Given the description of an element on the screen output the (x, y) to click on. 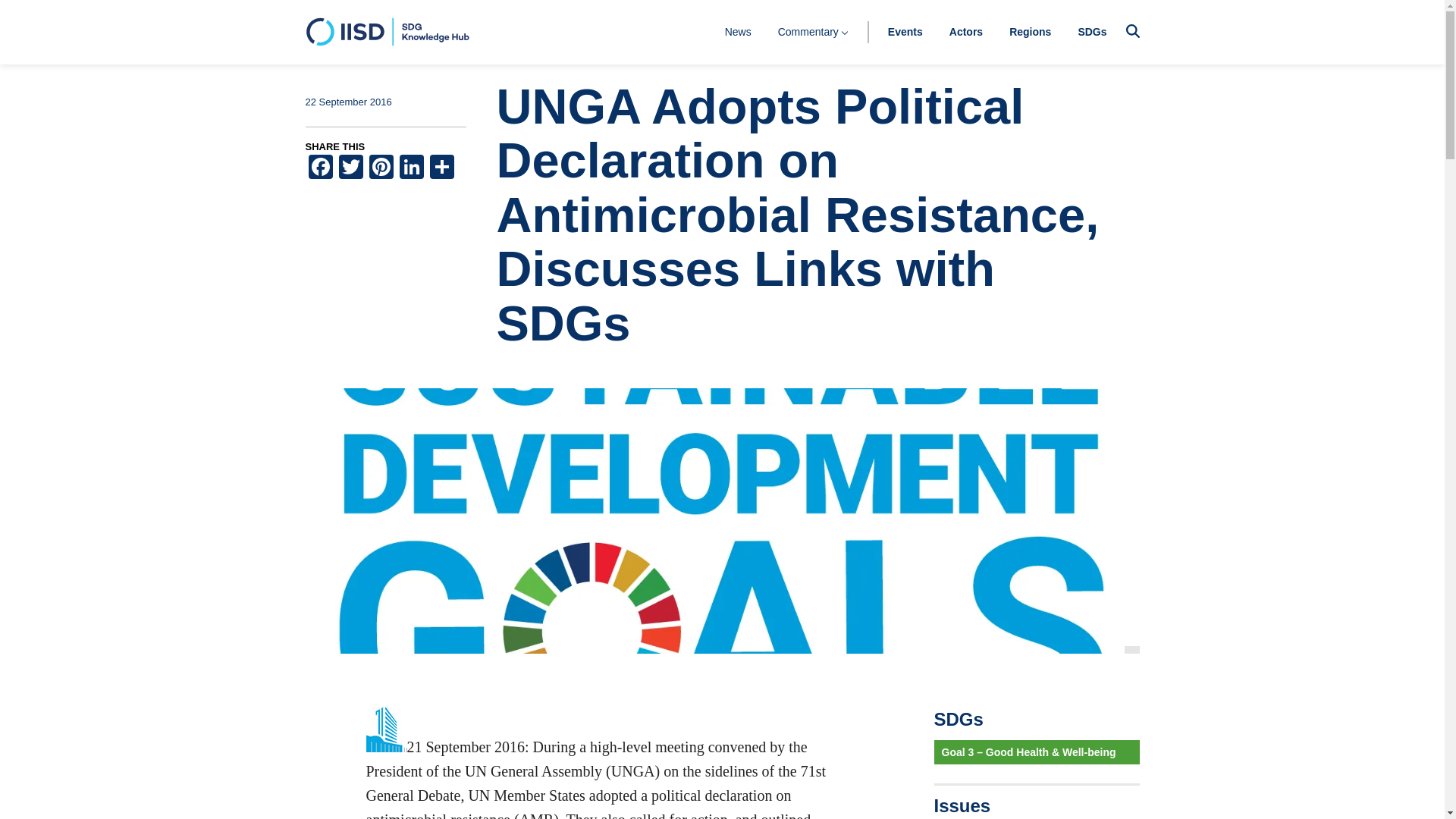
News (738, 31)
Twitter (349, 168)
SDGs (1091, 31)
LinkedIn (411, 168)
Twitter (349, 168)
Commentary (812, 31)
Actors (965, 31)
Facebook (319, 168)
Pinterest (380, 168)
LinkedIn (411, 168)
